Given the description of an element on the screen output the (x, y) to click on. 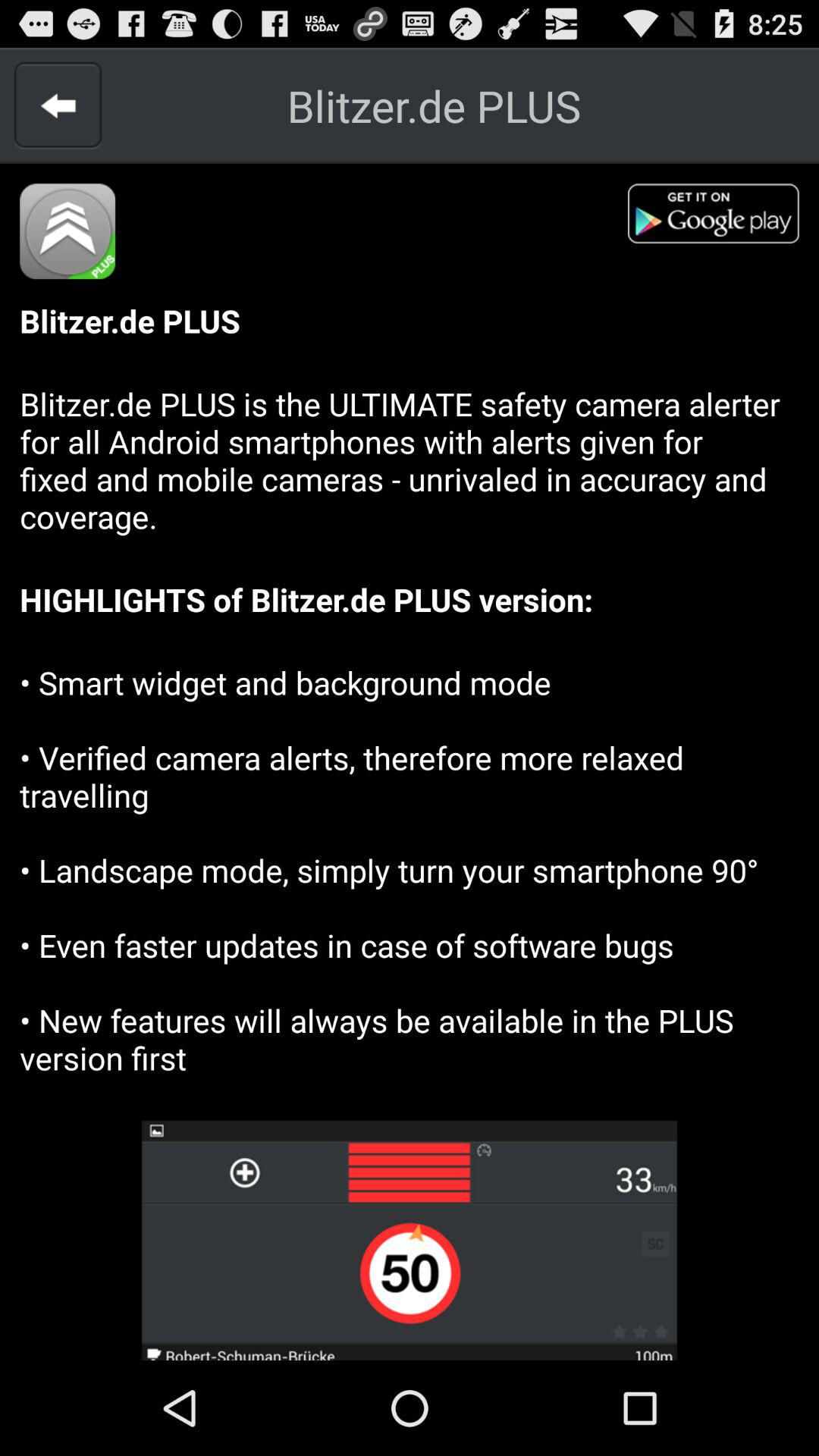
get the app on google play store (723, 218)
